Given the description of an element on the screen output the (x, y) to click on. 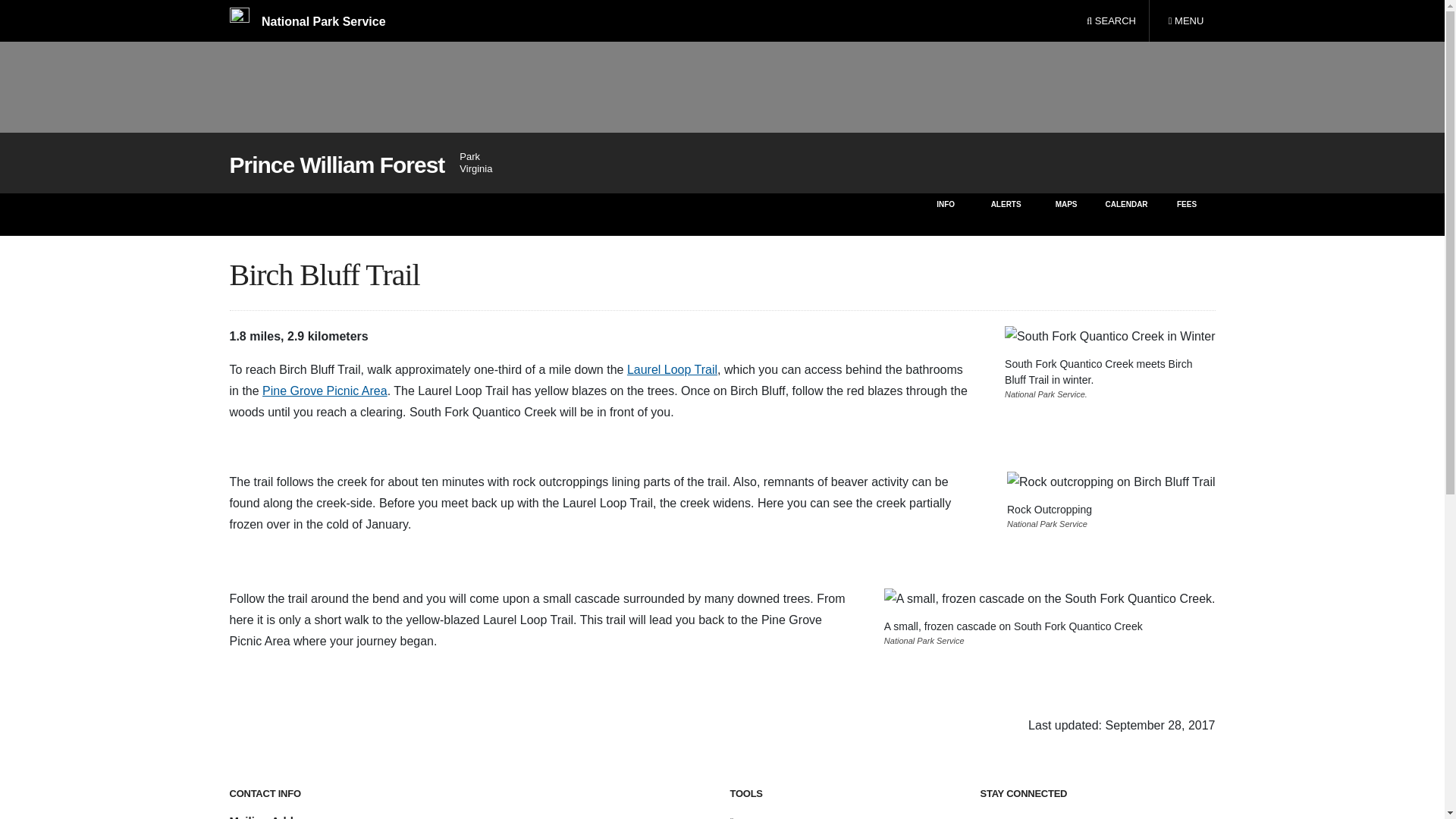
FEES (1186, 214)
SEARCH (1111, 20)
FAQ (748, 817)
ALERTS (1004, 214)
MAPS (1185, 20)
Laurel Loop Trail (1066, 214)
CALENDAR (672, 369)
National Park Service (1125, 214)
INFO (307, 20)
Pine Grove Picnic Area (945, 214)
Prince William Forest (324, 390)
